Given the description of an element on the screen output the (x, y) to click on. 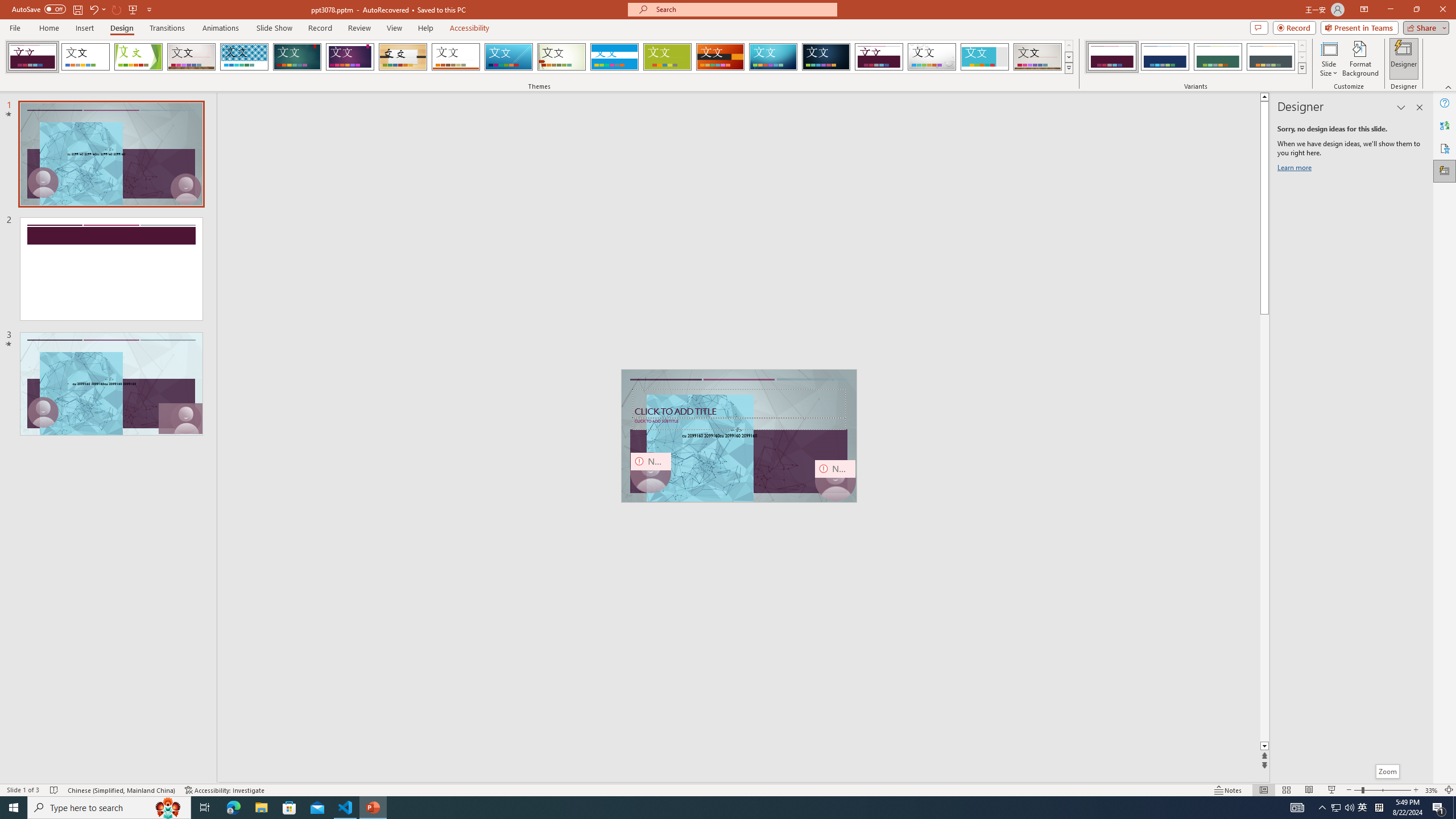
Dividend Variant 4 (1270, 56)
Wisp (561, 56)
TextBox 7 (736, 430)
Integral (244, 56)
Facet (138, 56)
Retrospect (455, 56)
